Given the description of an element on the screen output the (x, y) to click on. 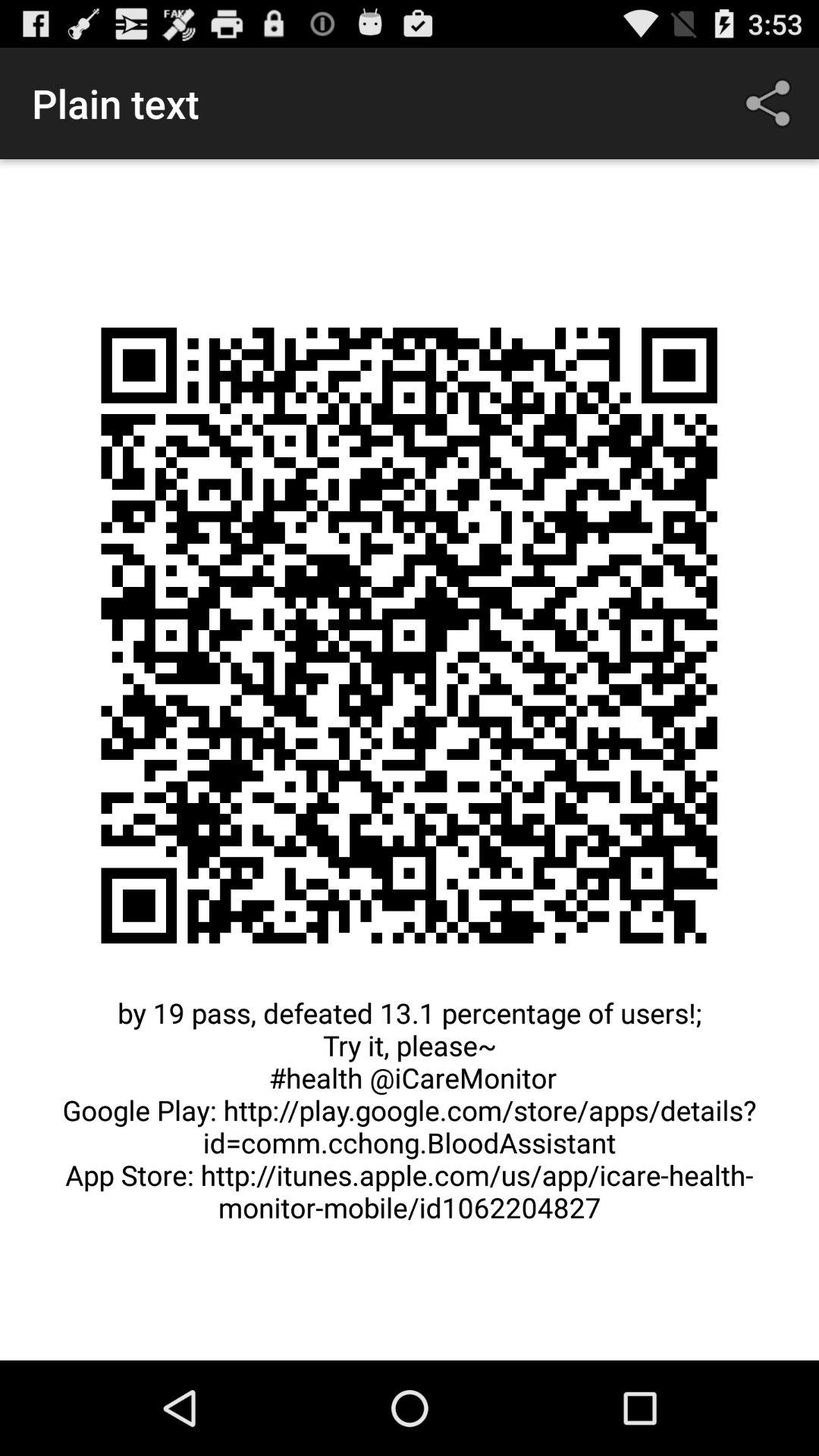
scroll to by 19 pass (409, 1118)
